Given the description of an element on the screen output the (x, y) to click on. 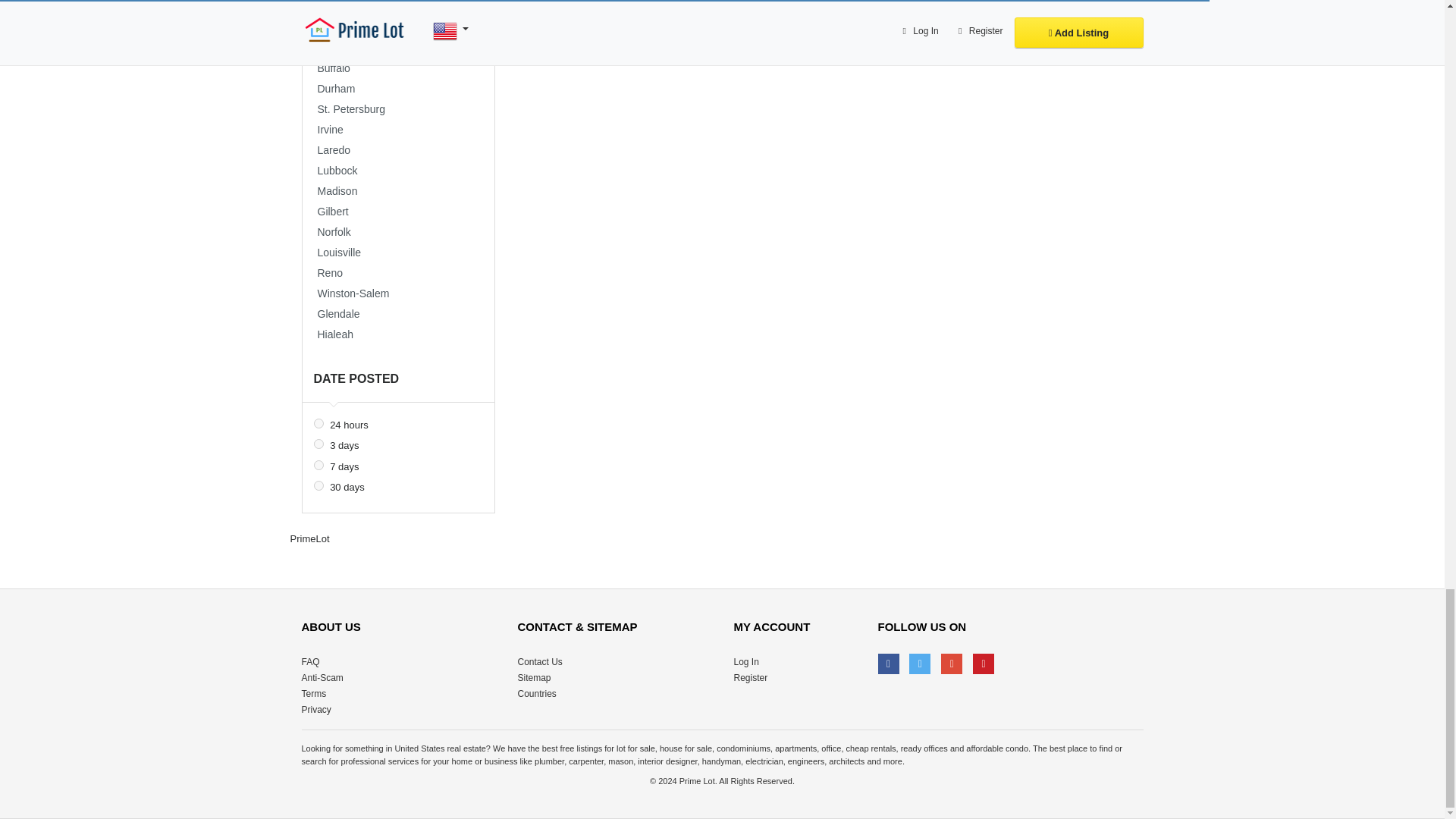
4 (318, 443)
8 (318, 465)
2 (318, 423)
31 (318, 485)
